Given the description of an element on the screen output the (x, y) to click on. 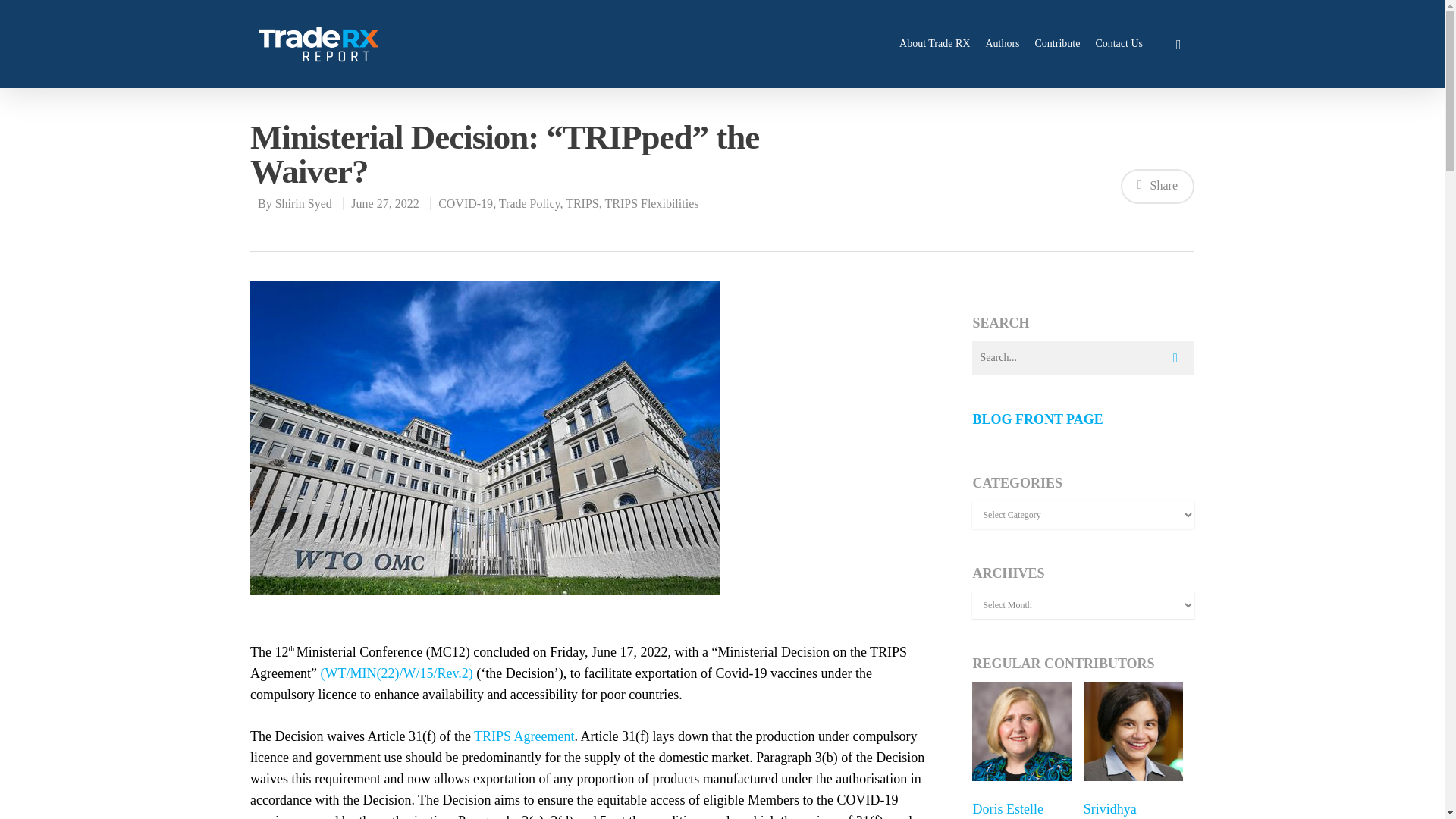
Contact Us (1118, 43)
TRIPS Agreement (524, 735)
TRIPS (582, 203)
COVID-19 (465, 203)
Trade Policy (529, 203)
Shirin Syed (303, 203)
Search for: (1082, 357)
About Trade RX (934, 43)
BLOG FRONT PAGE (1037, 418)
TRIPS Flexibilities (651, 203)
Contribute (1056, 43)
Authors (1002, 43)
Shirin Syed (303, 203)
